Given the description of an element on the screen output the (x, y) to click on. 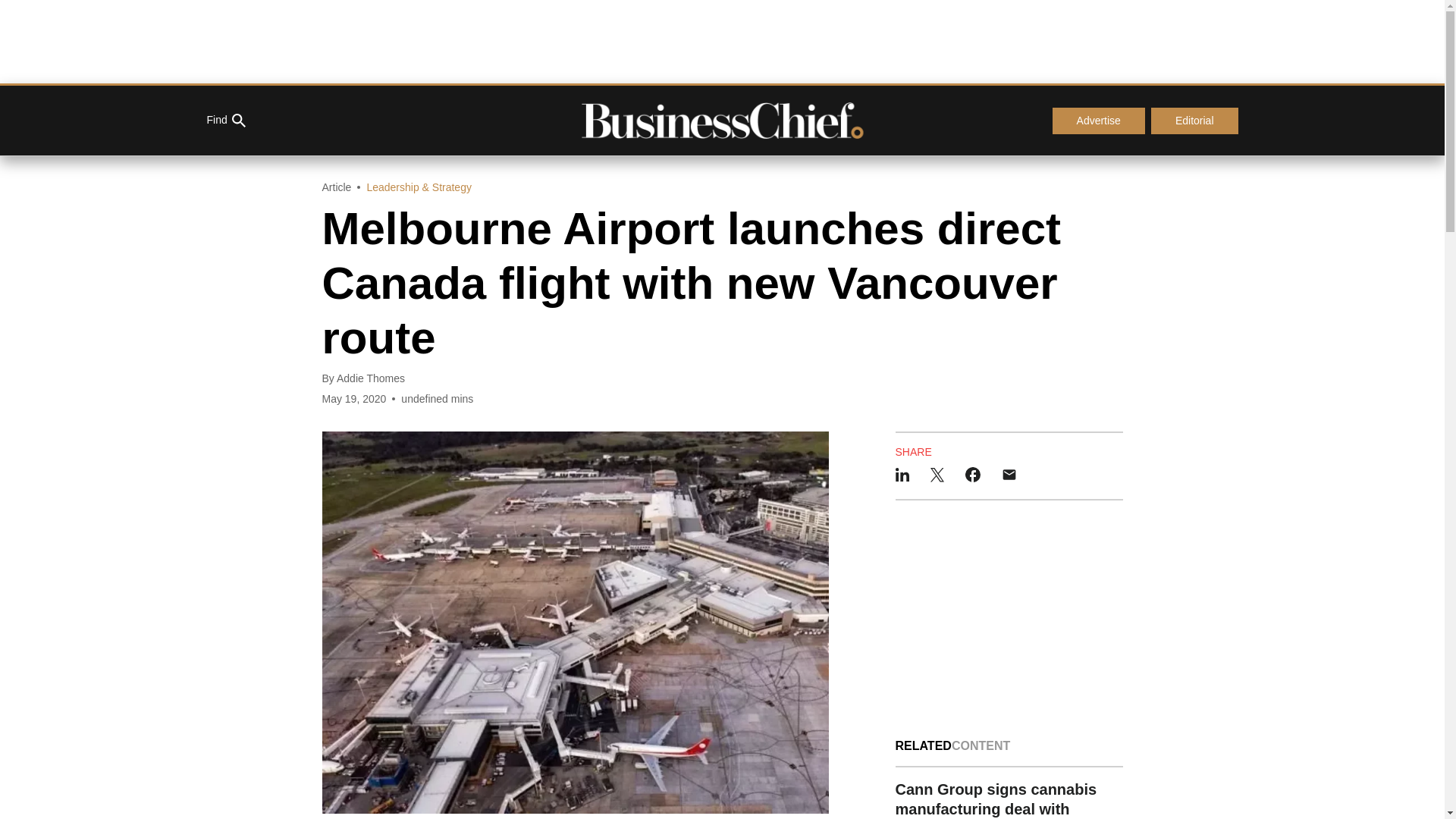
Advertise (1098, 121)
Editorial (1195, 121)
Find (225, 120)
